Given the description of an element on the screen output the (x, y) to click on. 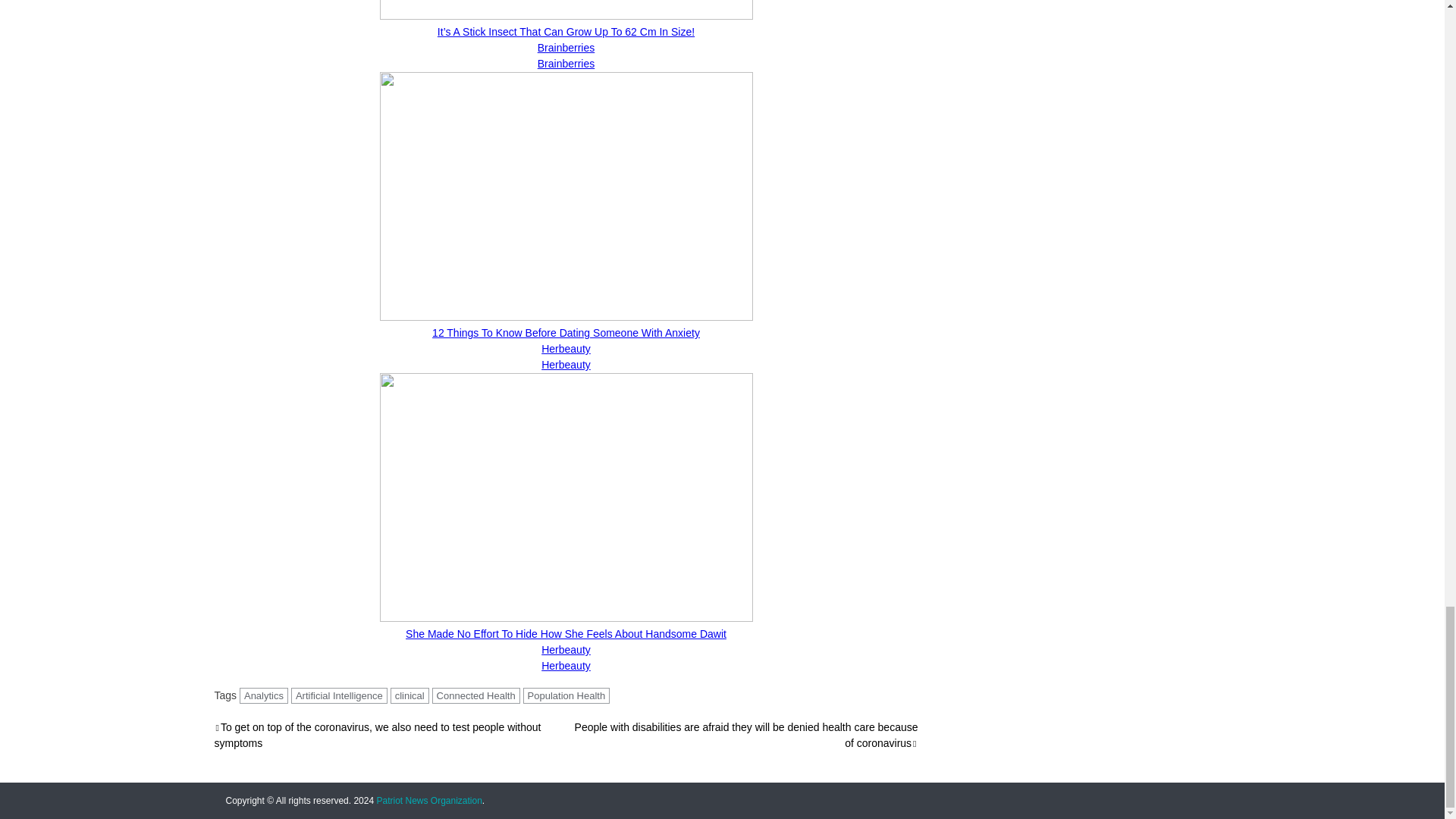
Population Health (566, 695)
Connected Health (475, 695)
Patriot News Organization (428, 800)
Patriot News Organization (428, 800)
Artificial Intelligence (339, 695)
Analytics (264, 695)
clinical (409, 695)
